Given the description of an element on the screen output the (x, y) to click on. 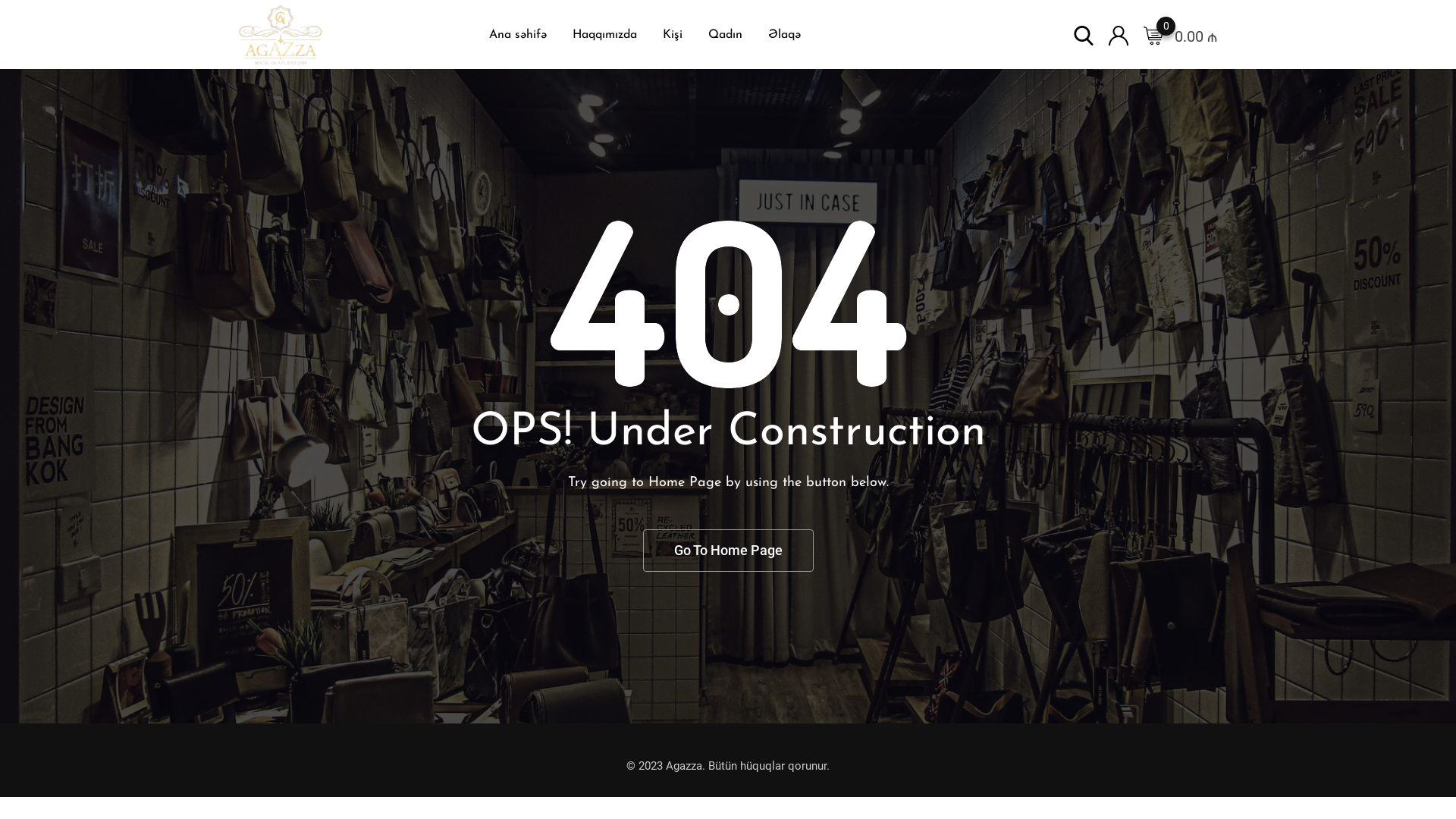
My Account Element type: hover (1118, 34)
0 Element type: text (1153, 34)
Go To Home Page Element type: text (728, 550)
Search Element type: hover (1083, 34)
